Given the description of an element on the screen output the (x, y) to click on. 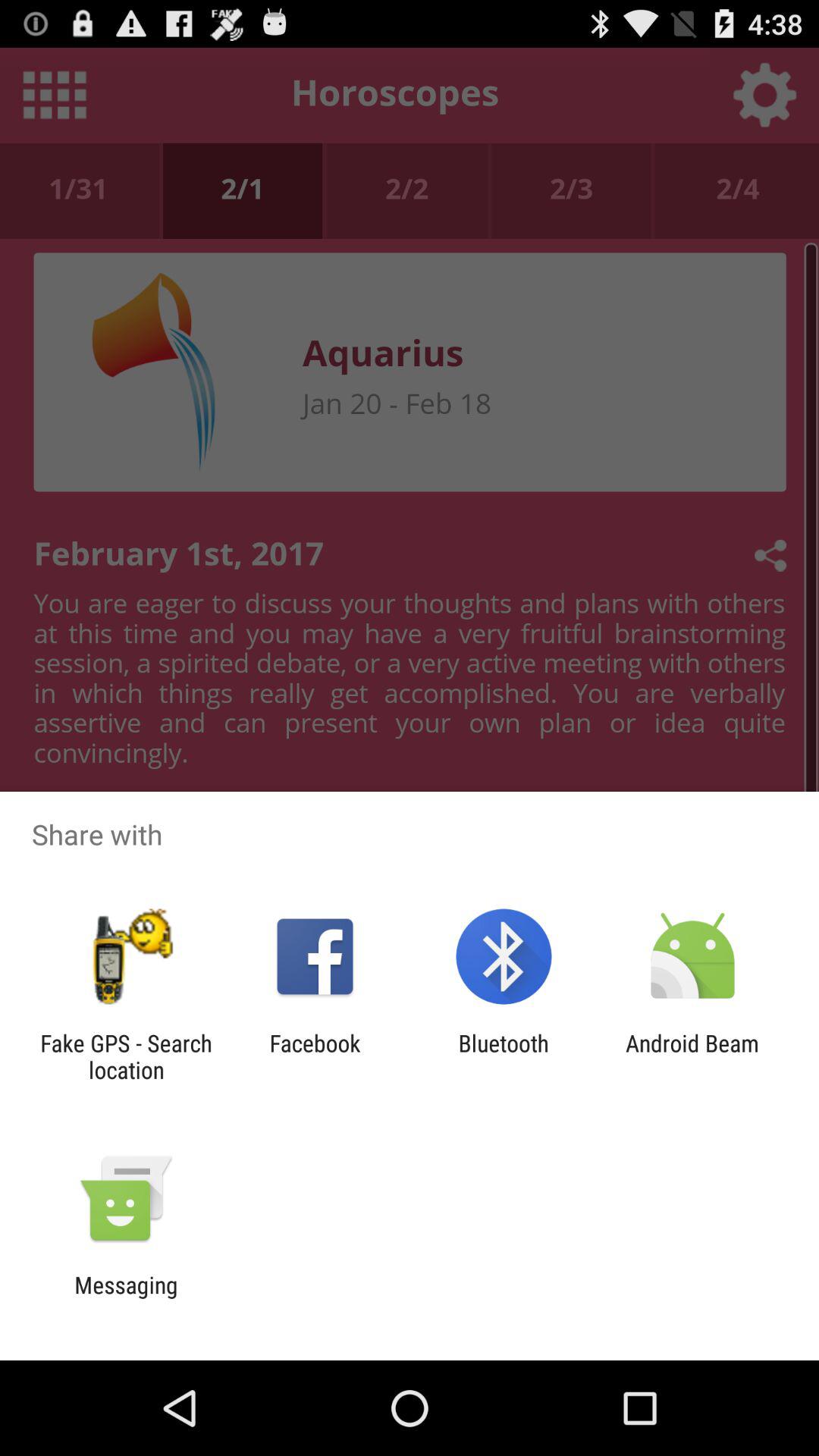
turn off the item next to facebook (125, 1056)
